Given the description of an element on the screen output the (x, y) to click on. 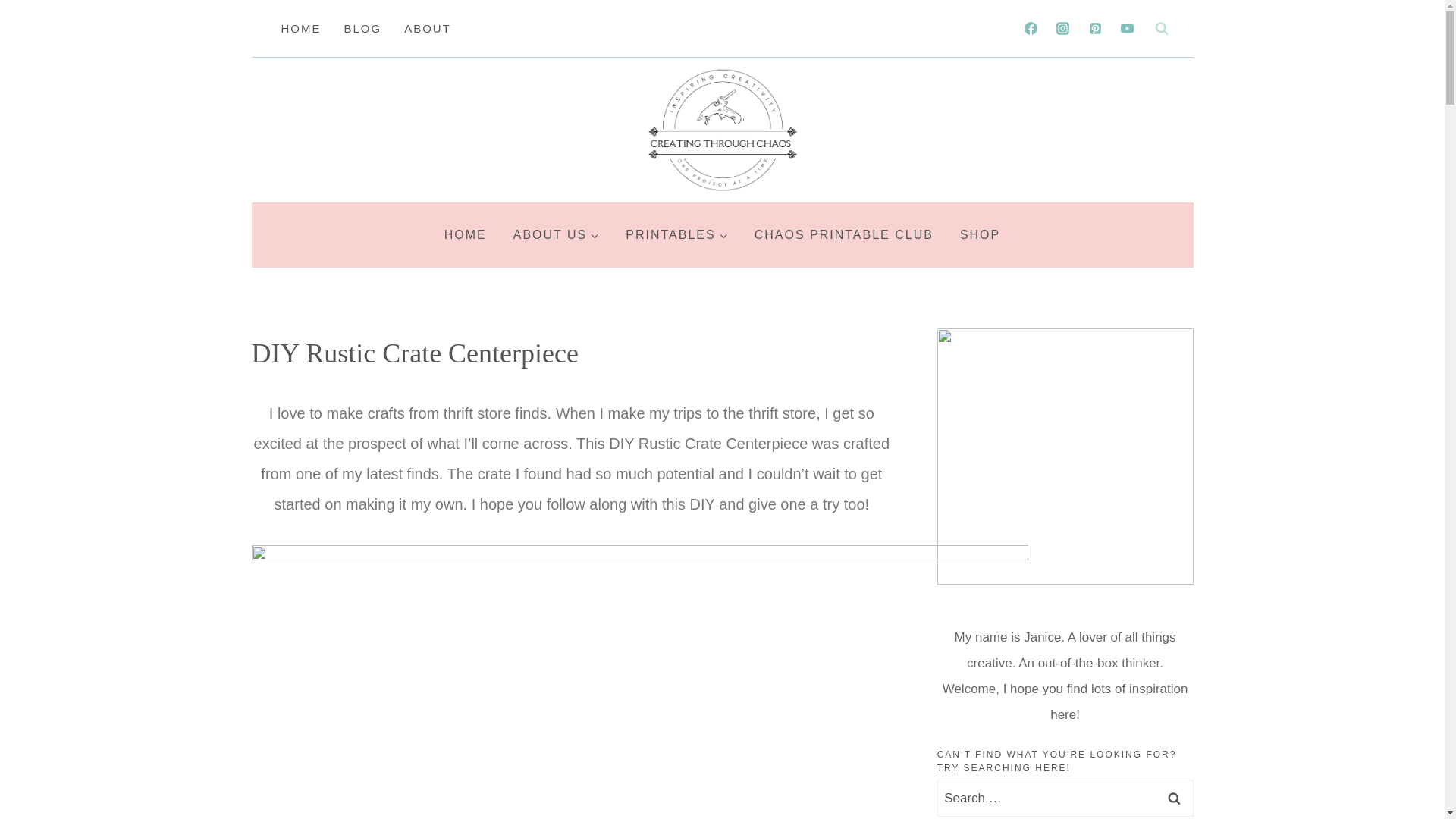
ABOUT (428, 28)
PRINTABLES (676, 234)
HOME (301, 28)
SHOP (979, 234)
Search (1174, 798)
ABOUT US (555, 234)
HOME (464, 234)
CHAOS PRINTABLE CLUB (843, 234)
BLOG (362, 28)
Search (1174, 798)
